Given the description of an element on the screen output the (x, y) to click on. 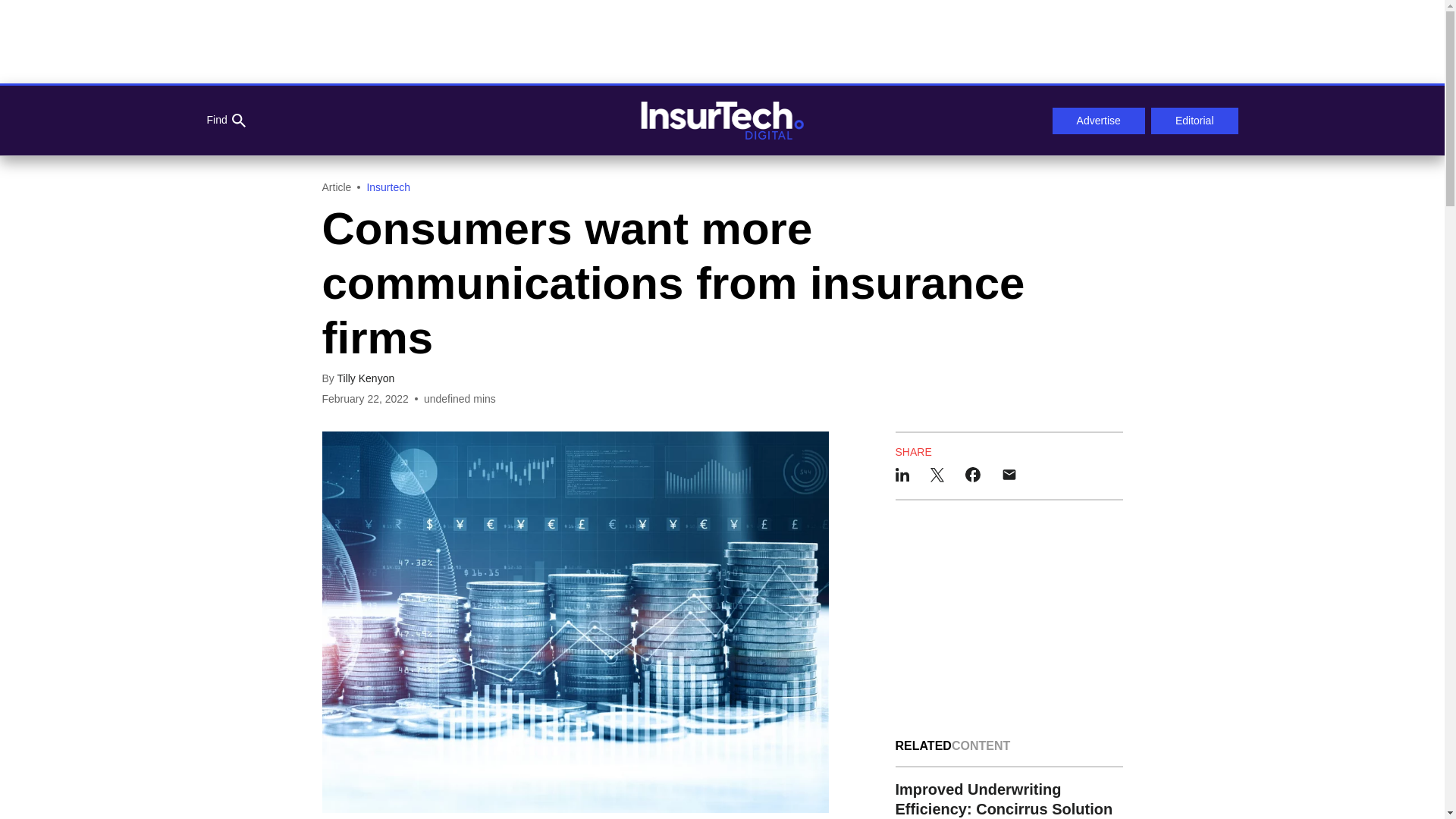
Editorial (1195, 121)
Advertise (1098, 121)
Find (225, 120)
Tilly Kenyon (365, 378)
